Given the description of an element on the screen output the (x, y) to click on. 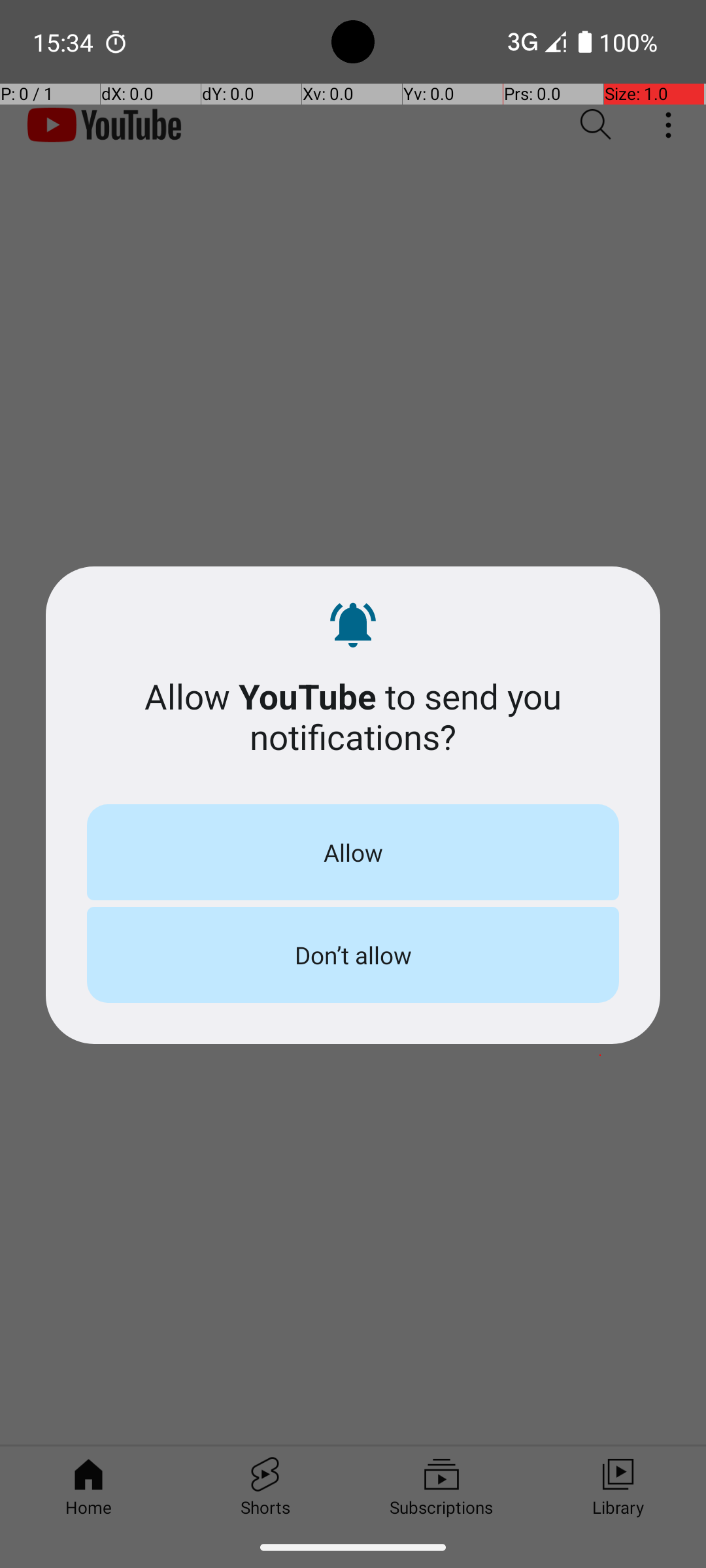
Allow YouTube to send you notifications? Element type: android.widget.TextView (352, 715)
Allow Element type: android.widget.Button (352, 852)
Don’t allow Element type: android.widget.Button (352, 954)
